Given the description of an element on the screen output the (x, y) to click on. 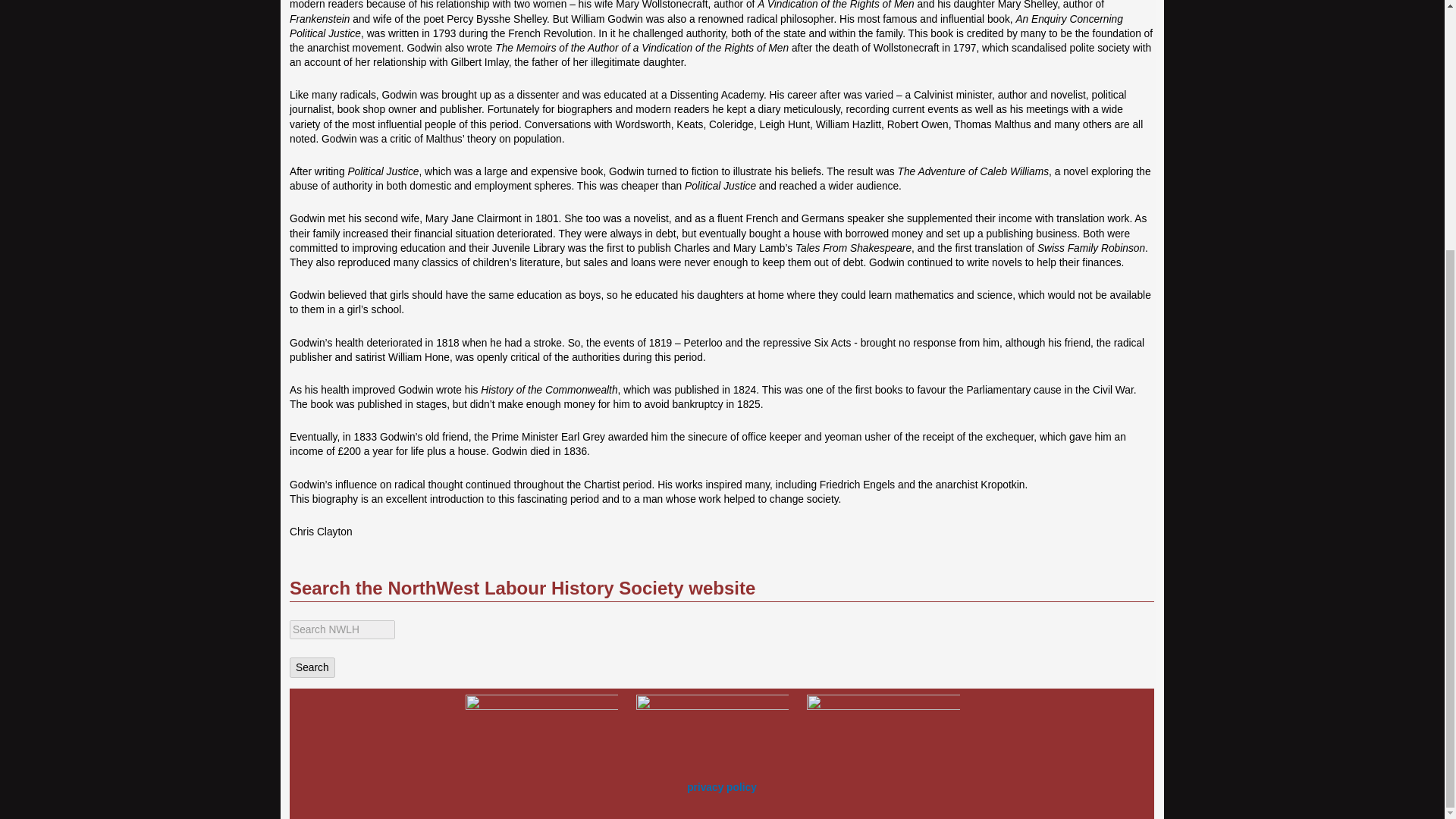
Search (311, 667)
Search (311, 667)
privacy policy (722, 787)
Enter the terms you wish to search for. (341, 629)
